Given the description of an element on the screen output the (x, y) to click on. 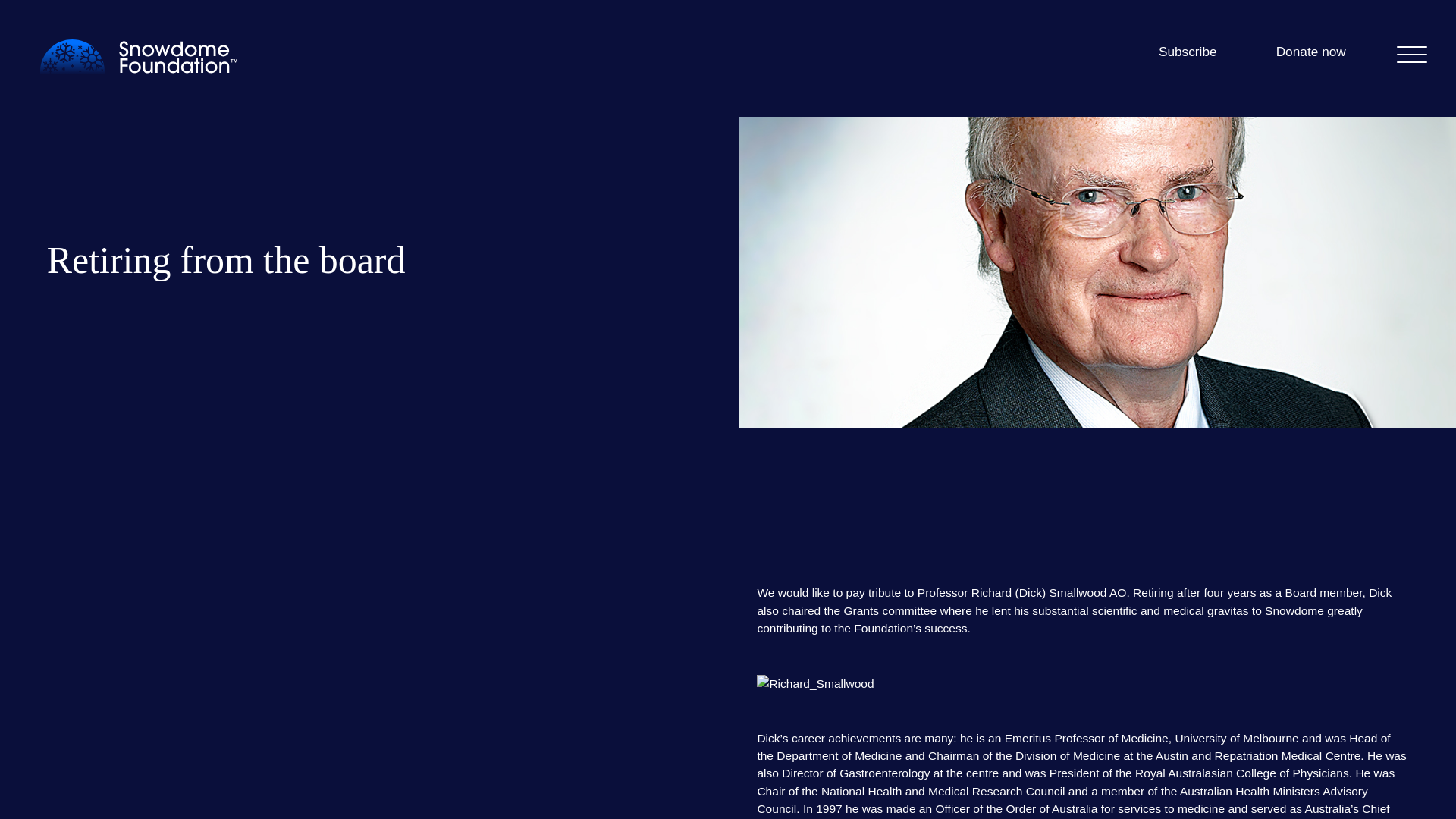
 Snowdome Foundation (138, 57)
Donate now (1310, 56)
Subscribe (1187, 56)
